Given the description of an element on the screen output the (x, y) to click on. 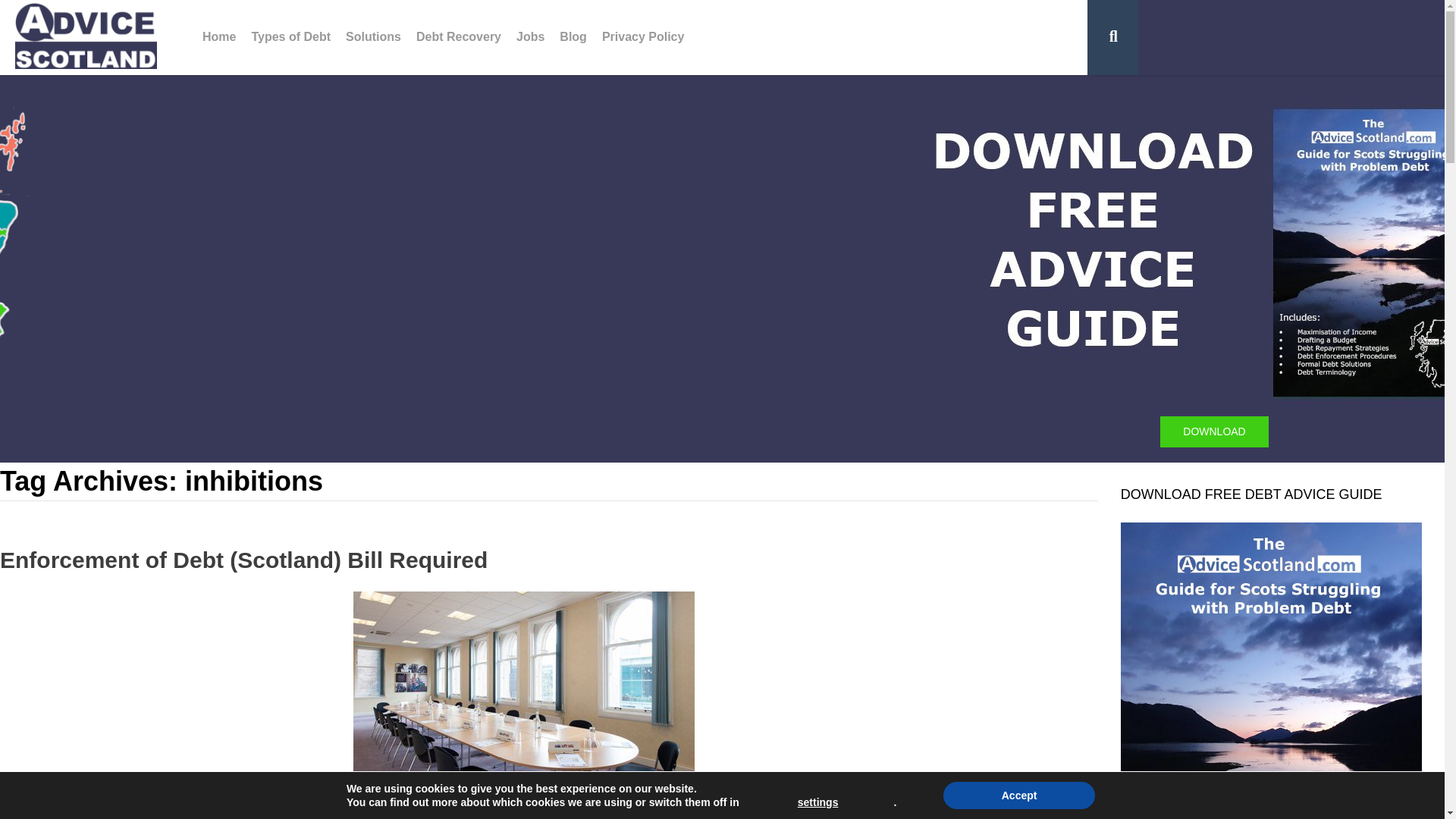
Privacy Policy (643, 38)
Debt Recovery (458, 38)
Home (219, 38)
Jobs (529, 38)
Blog (572, 38)
Types of Debt (290, 38)
Solutions (373, 38)
